Given the description of an element on the screen output the (x, y) to click on. 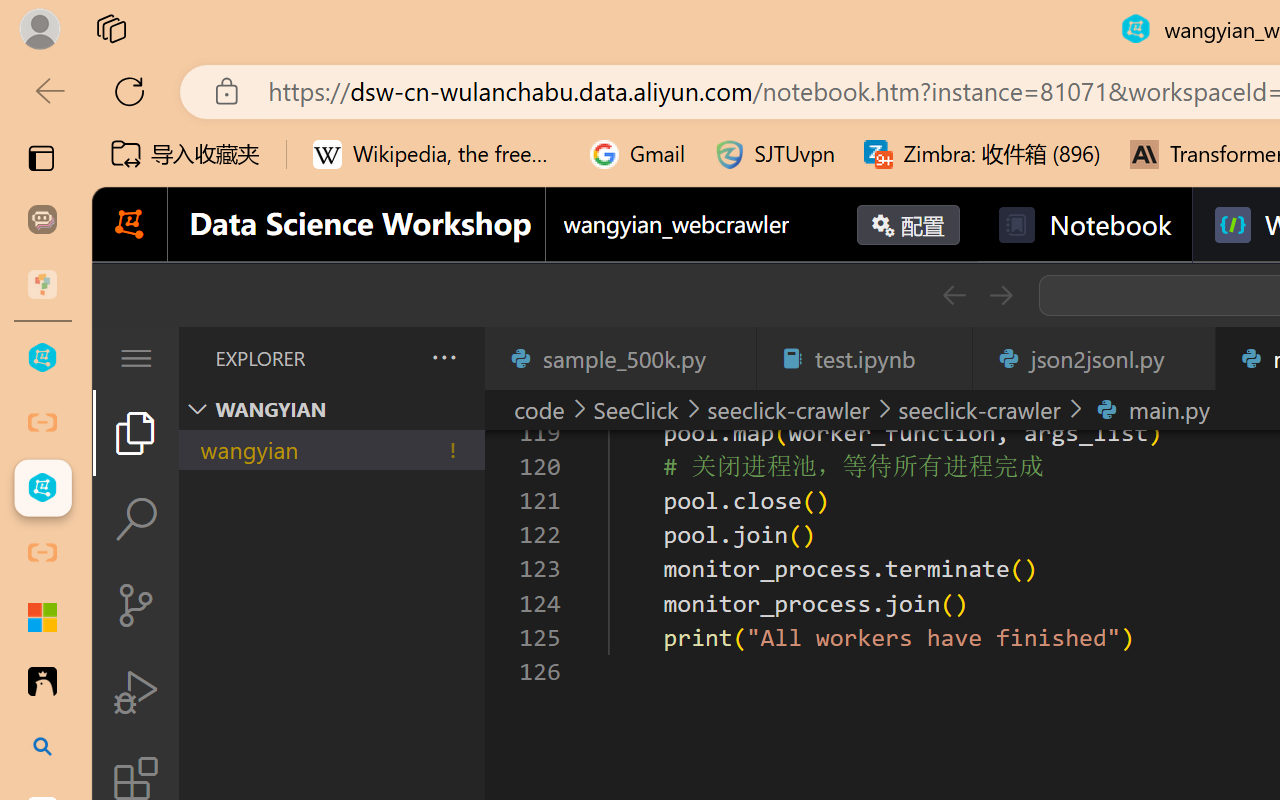
Close (Ctrl+F4) (1188, 358)
Go Back (Alt+LeftArrow) (953, 295)
sample_500k.py (619, 358)
test.ipynb (864, 358)
Explorer (Ctrl+Shift+E) (135, 432)
Gmail (637, 154)
